Given the description of an element on the screen output the (x, y) to click on. 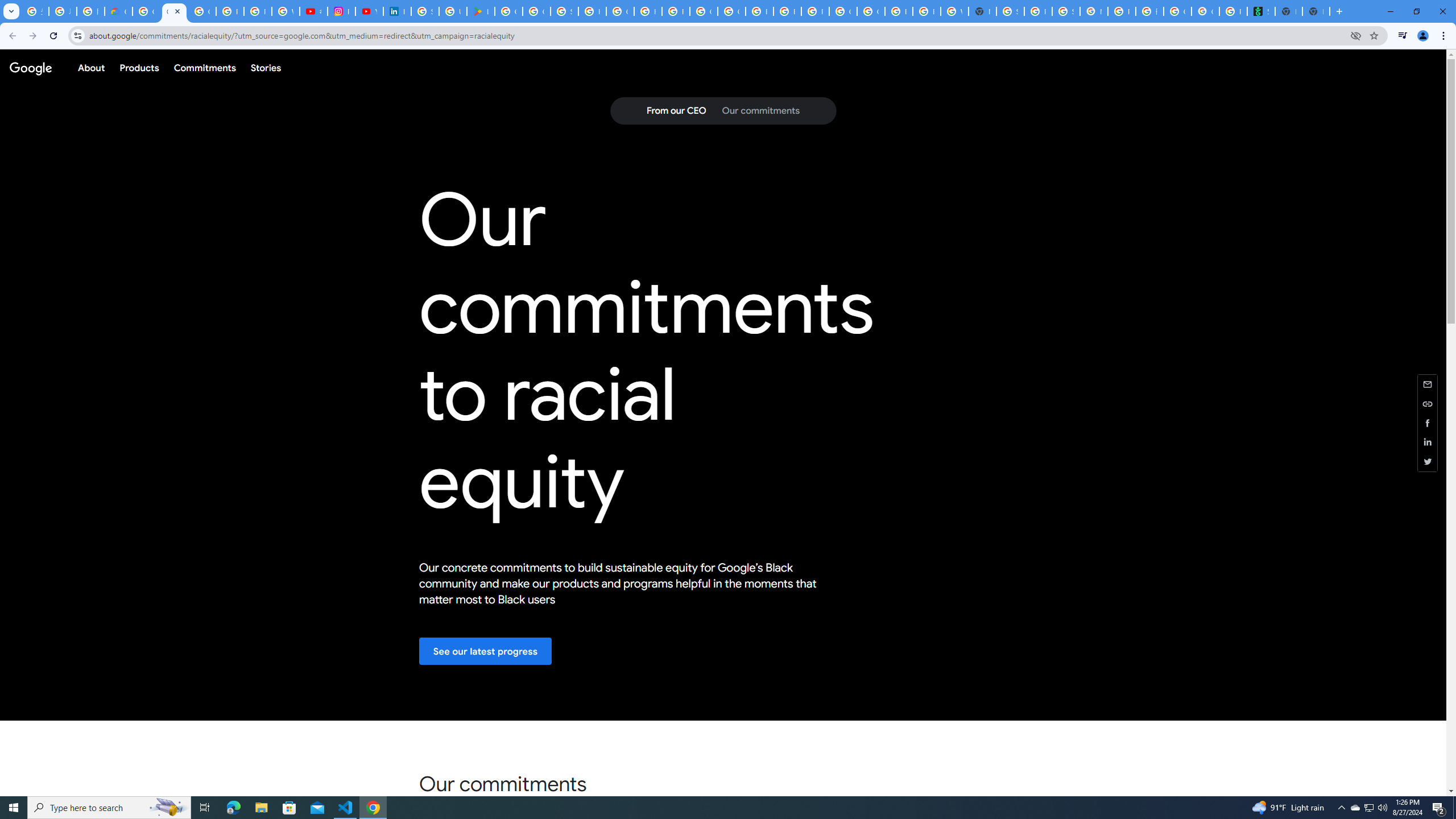
YouTube Culture & Trends - On The Rise: Handcam Videos (369, 11)
See our latest progress (485, 651)
View site information (77, 35)
Sign in - Google Accounts (425, 11)
From our CEO: Jump to page section (676, 110)
